Given the description of an element on the screen output the (x, y) to click on. 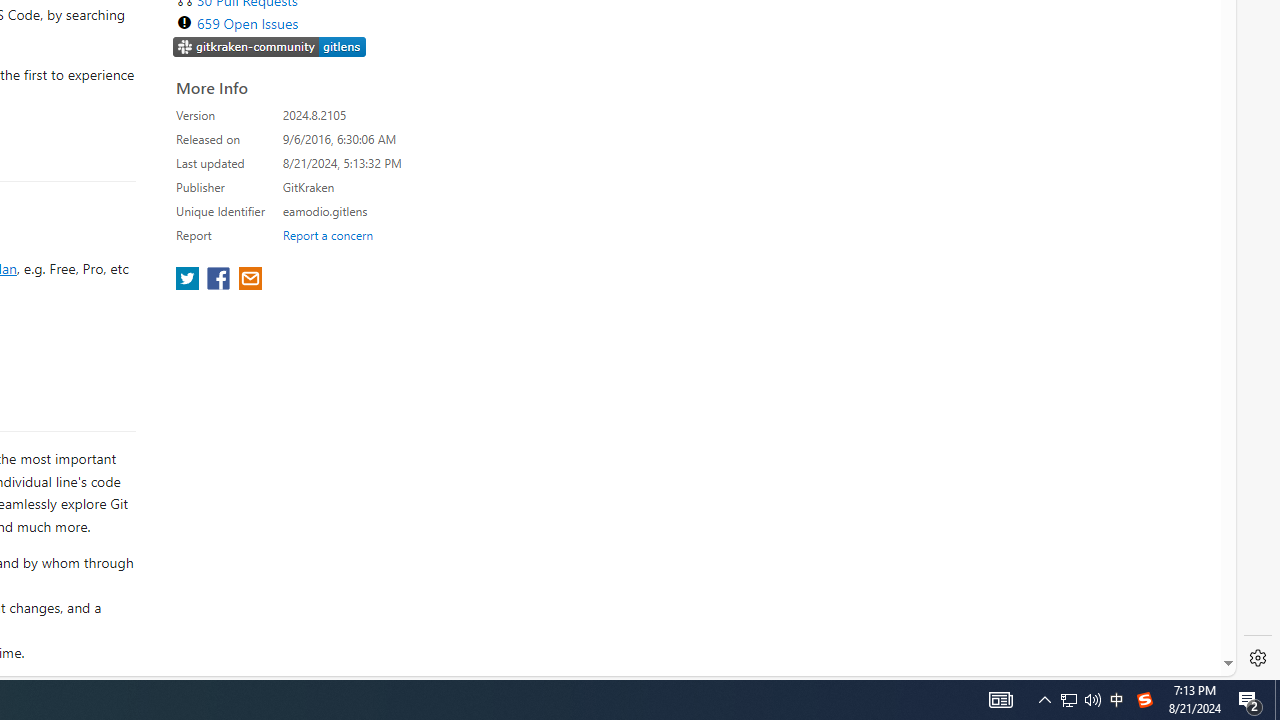
share extension on facebook (220, 280)
Report a concern (327, 234)
https://slack.gitkraken.com// (269, 46)
share extension on twitter (190, 280)
share extension on email (249, 280)
https://slack.gitkraken.com// (269, 48)
